Given the description of an element on the screen output the (x, y) to click on. 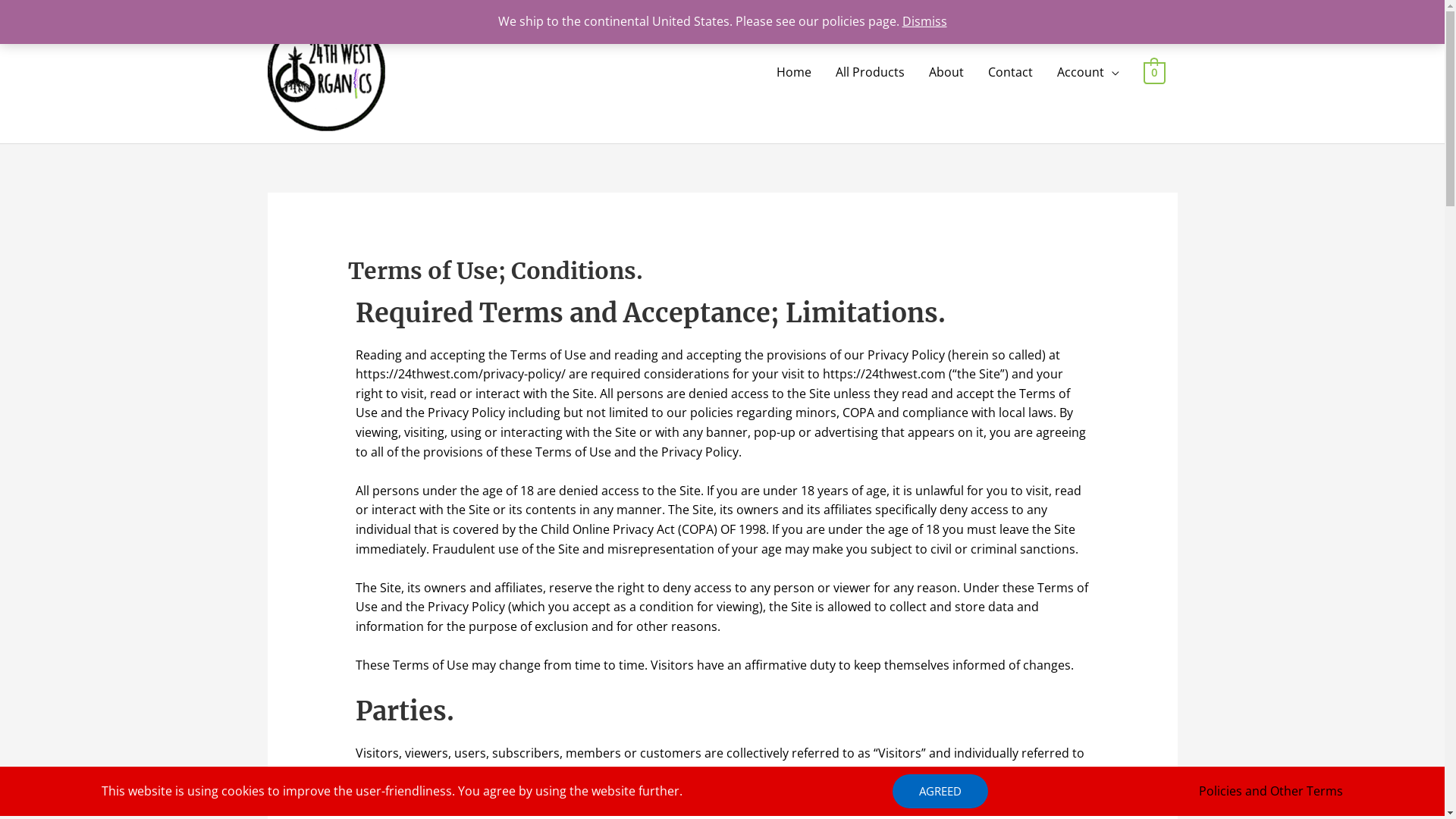
About Element type: text (945, 71)
Account Element type: text (1087, 71)
AGREED Element type: text (940, 791)
Dismiss Element type: text (924, 20)
All Products Element type: text (869, 71)
0 Element type: text (1154, 71)
Home Element type: text (793, 71)
Contact Element type: text (1009, 71)
Policies and Other Terms Element type: text (1270, 791)
